Given the description of an element on the screen output the (x, y) to click on. 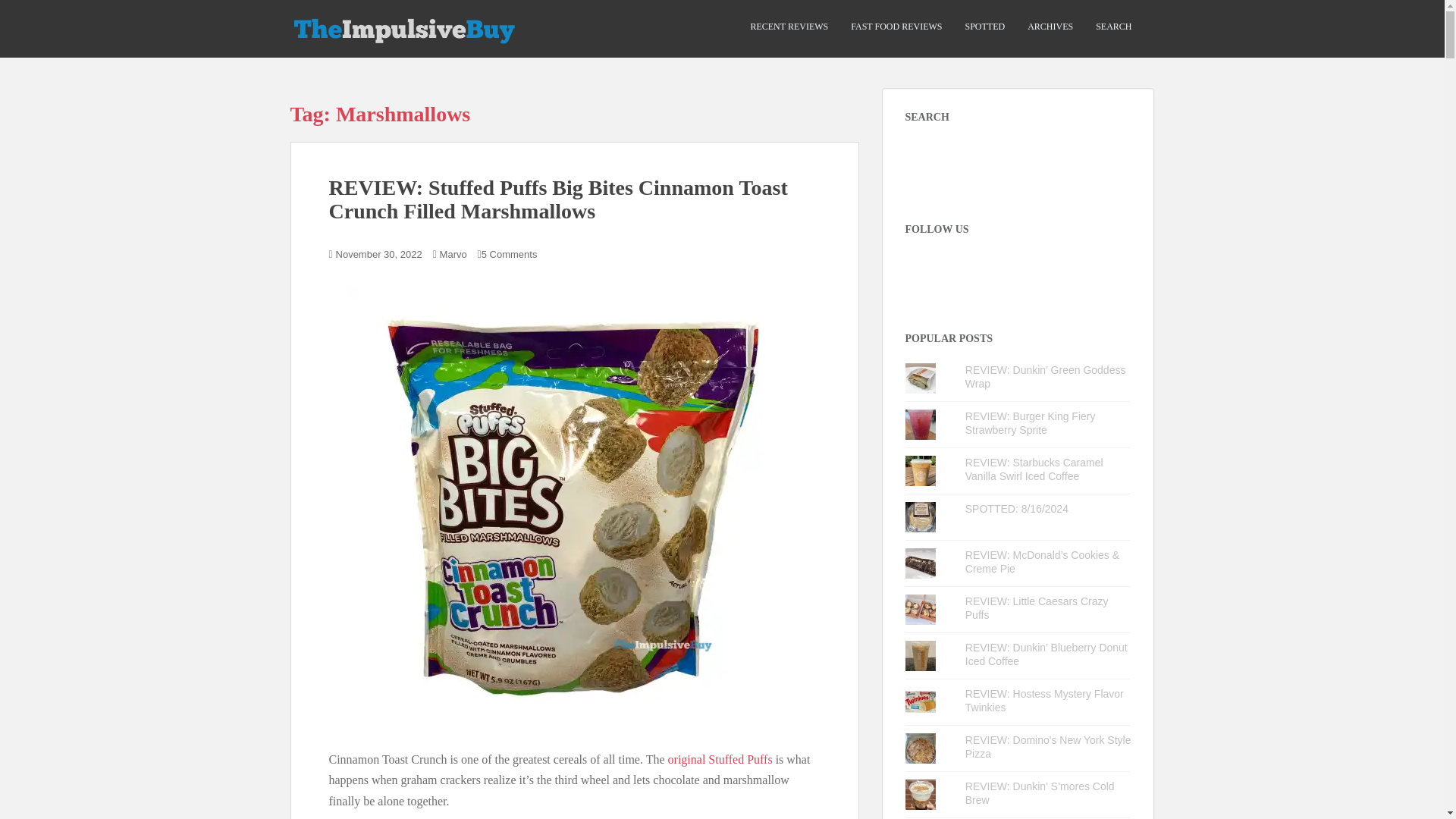
Instagram (917, 266)
FAST FOOD REVIEWS (896, 26)
RECENT REVIEWS (788, 26)
SPOTTED (983, 26)
5 Comments (509, 254)
original Stuffed Puffs (720, 758)
November 30, 2022 (379, 254)
Marvo (453, 254)
